Given the description of an element on the screen output the (x, y) to click on. 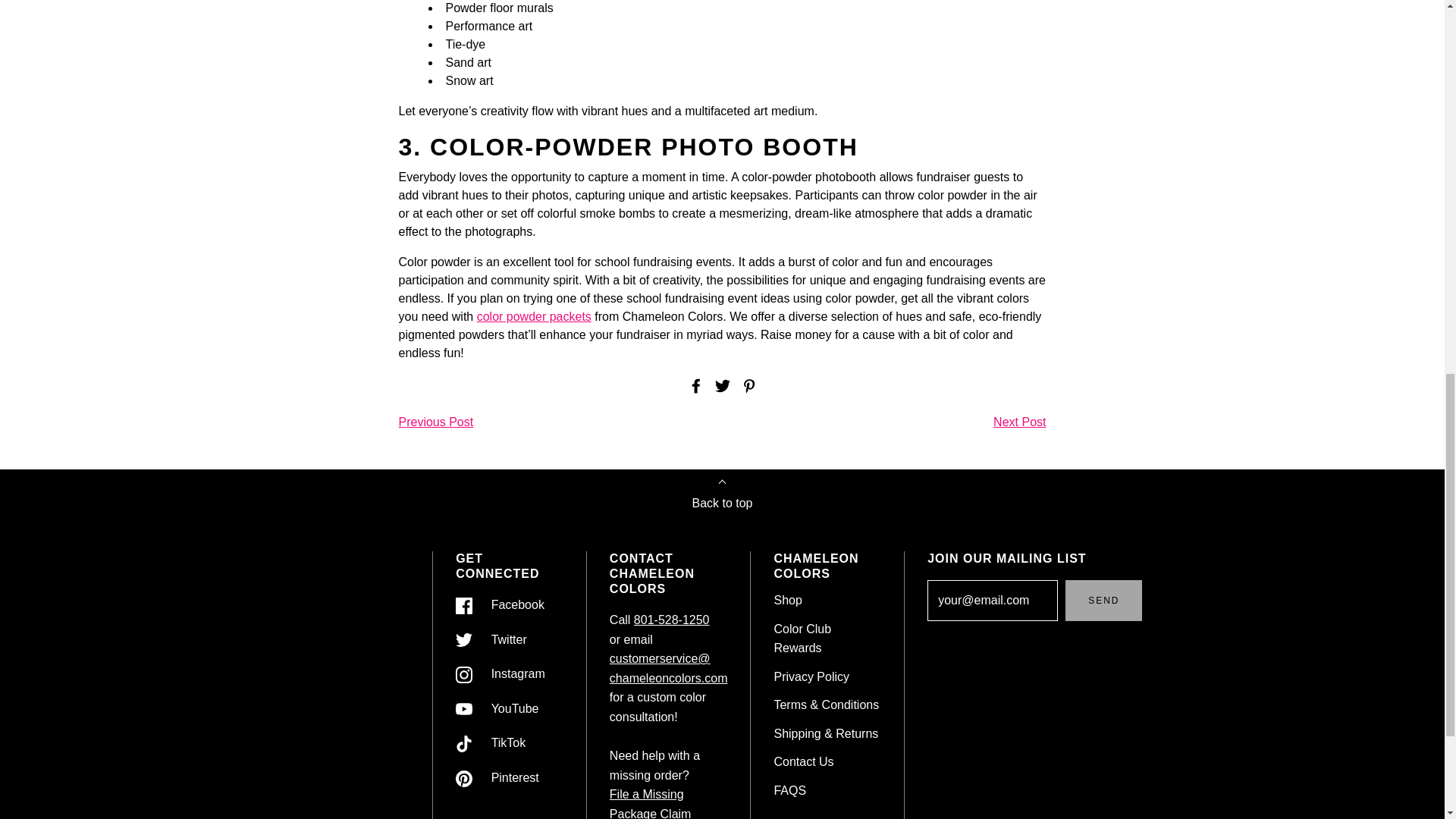
Instagram icon (463, 674)
Pinterest icon (463, 778)
Twitter icon (463, 639)
Facebook icon (463, 605)
TikTok icon (463, 743)
YouTube icon (463, 709)
